Given the description of an element on the screen output the (x, y) to click on. 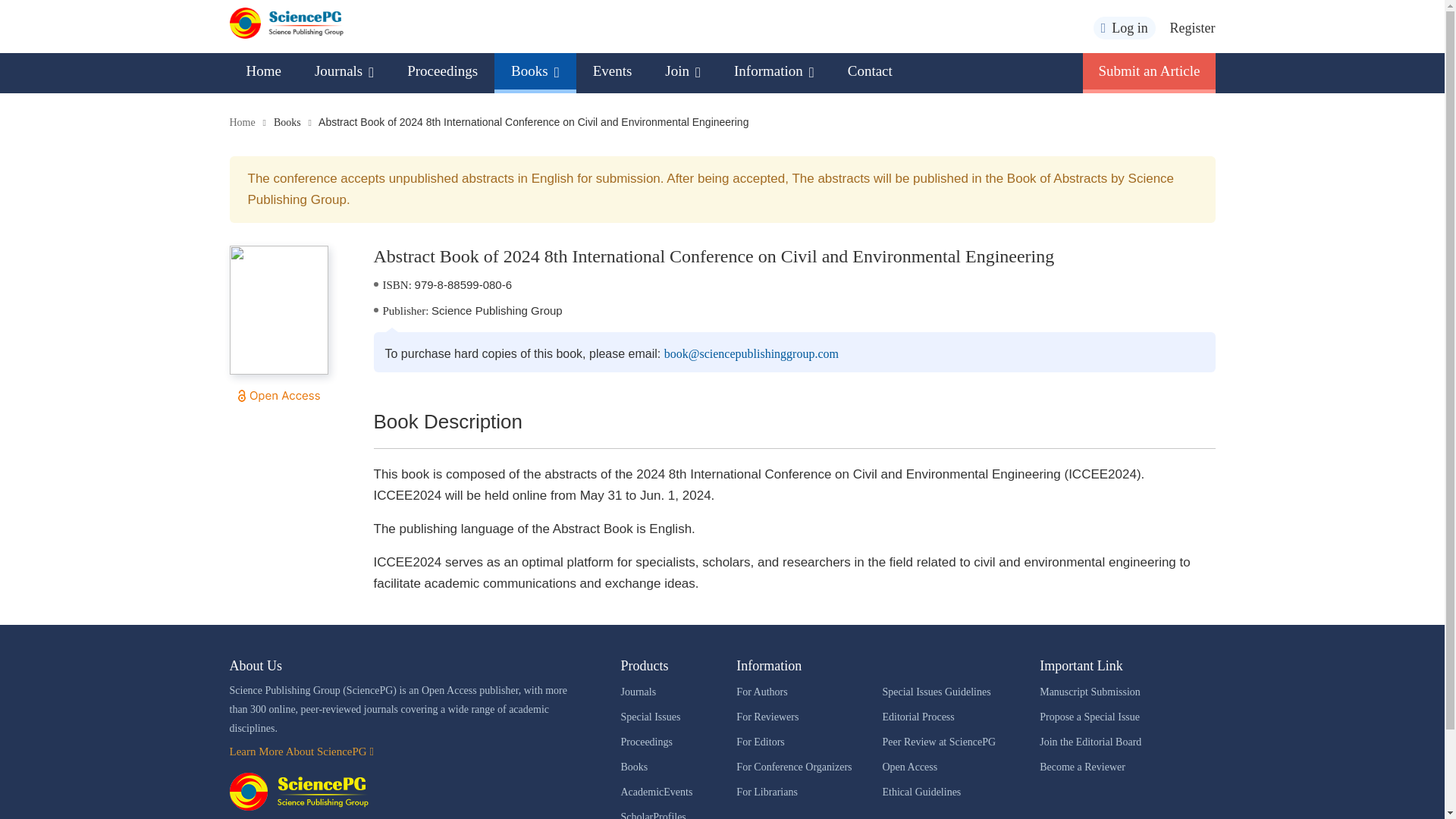
Proceedings (442, 71)
Register (1191, 28)
Books (535, 71)
Join (682, 71)
Journals (344, 71)
Home (262, 71)
Information (774, 71)
Events (612, 71)
Log in (1124, 27)
